Given the description of an element on the screen output the (x, y) to click on. 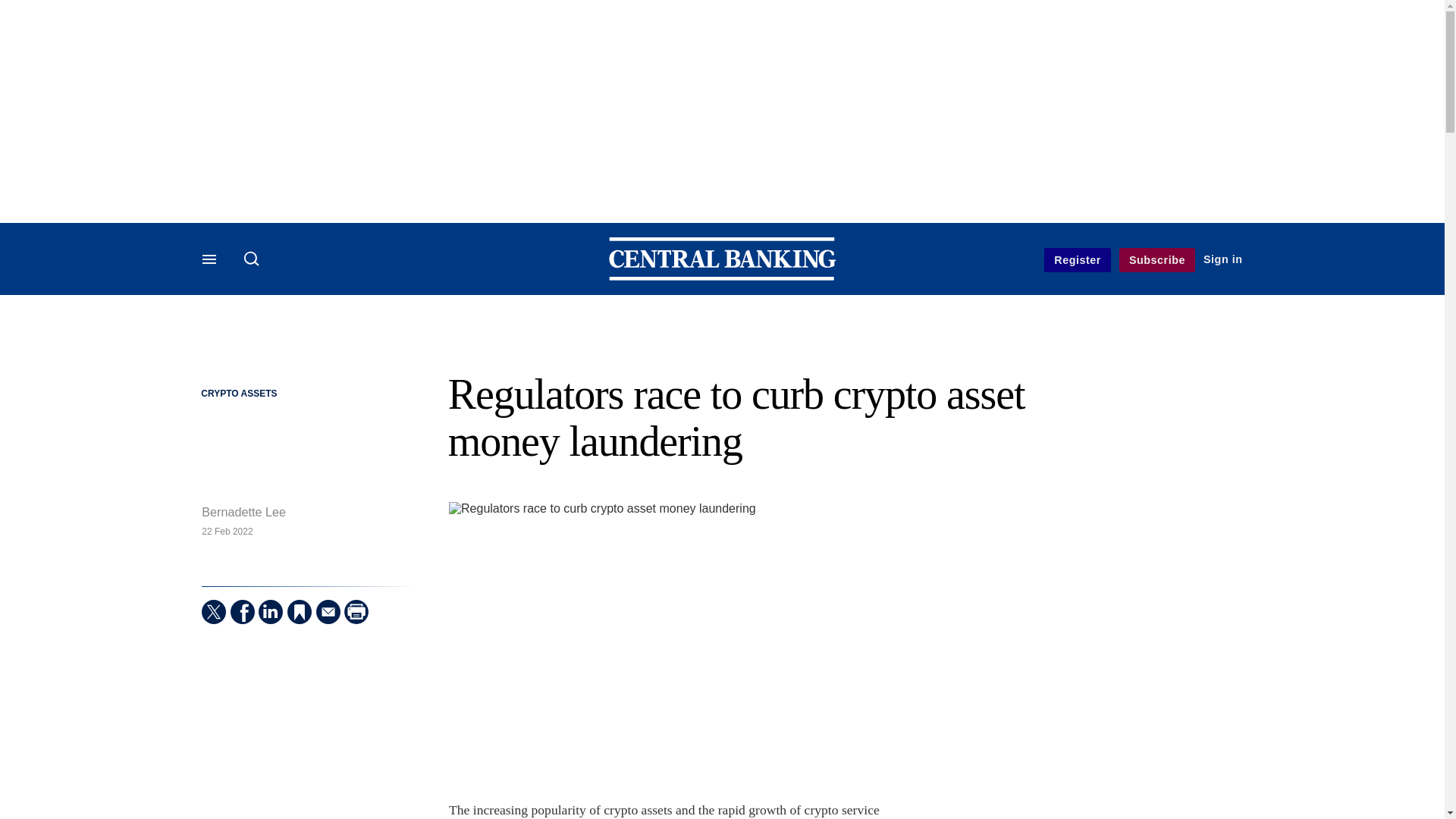
Tweet (213, 611)
Return to homepage (721, 276)
Open side navigation menu (210, 260)
Facebook (242, 611)
Open search popup (251, 258)
